Given the description of an element on the screen output the (x, y) to click on. 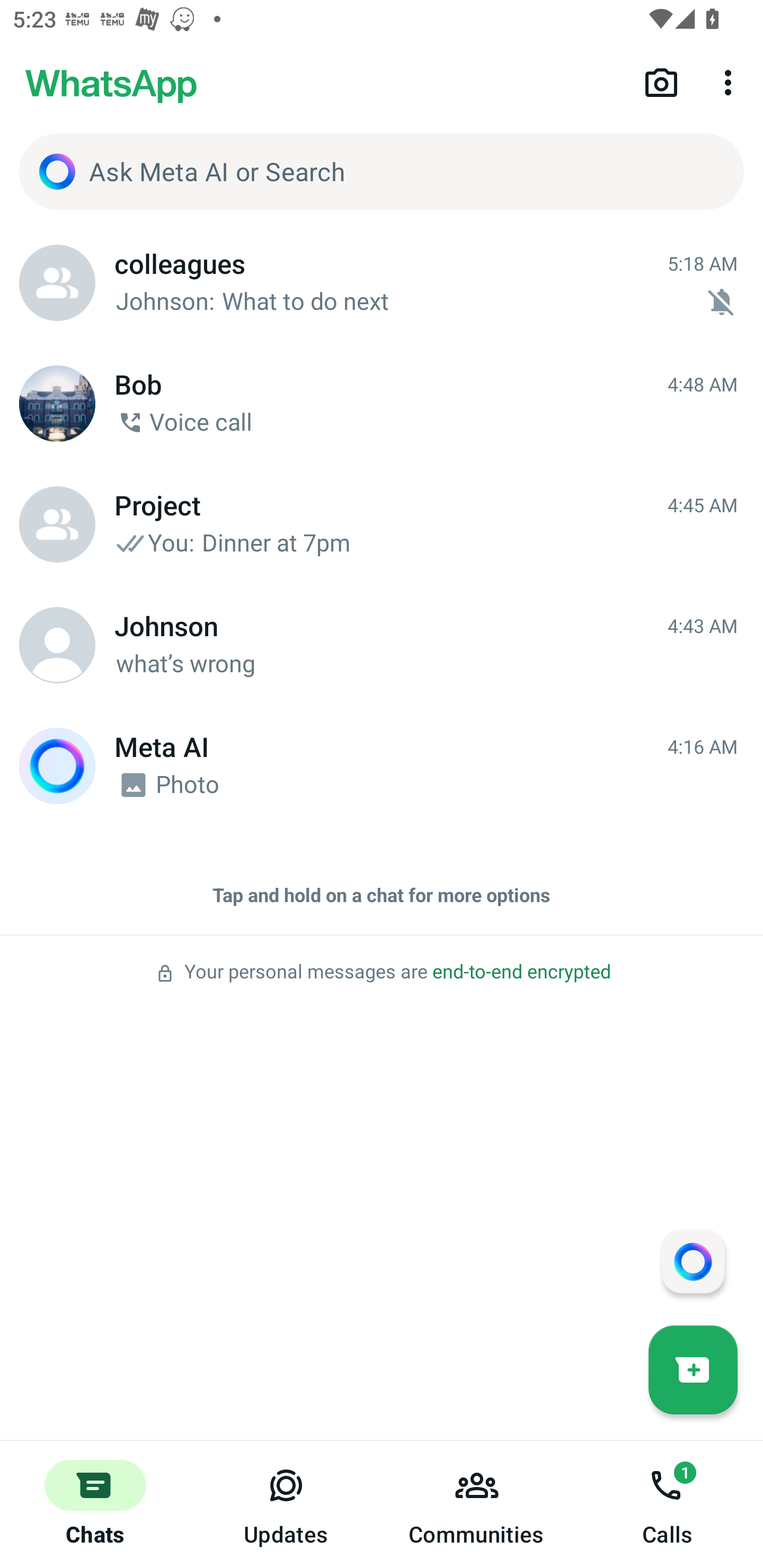
Camera (661, 81)
More options (731, 81)
colleagues (57, 282)
Bob Bob 4:48 AM 4:48 AM Voice call (381, 403)
Bob (57, 403)
Project (57, 524)
Johnson Johnson 4:43 AM 4:43 AM what’s wrong (381, 644)
Johnson (57, 644)
Meta AI Meta AI 4:16 AM 4:16 AM Photo (381, 765)
Meta AI (57, 765)
end-to-end encrypted (521, 972)
Message your assistant (692, 1261)
New chat (692, 1369)
Updates (285, 1504)
Communities (476, 1504)
Calls, 1 new notification Calls (667, 1504)
